Given the description of an element on the screen output the (x, y) to click on. 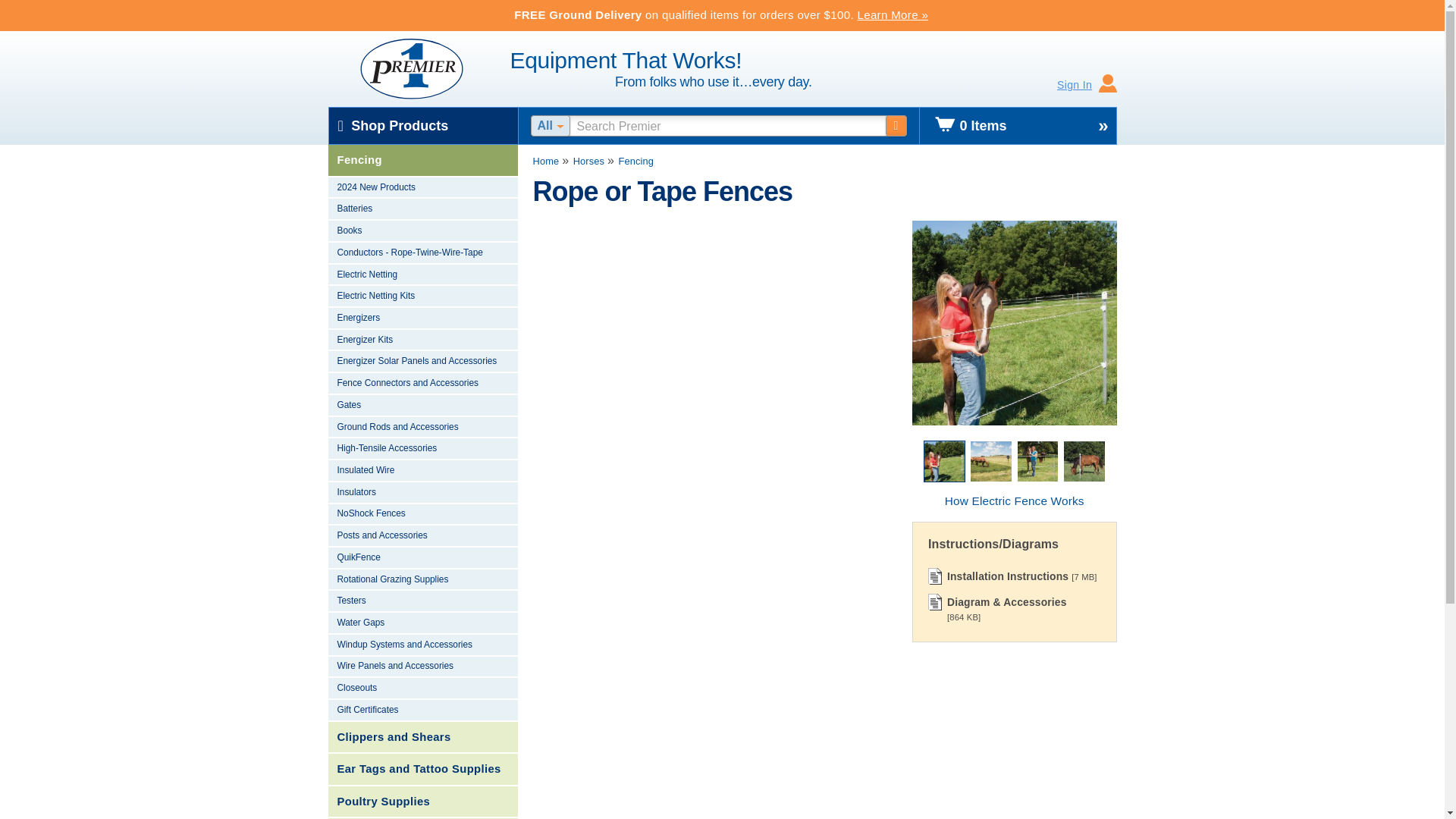
Insulated Wire (421, 471)
Shop Products (423, 125)
Conductors - Rope-Twine-Wire-Tape (421, 253)
Testers (421, 601)
Insulators (421, 493)
Books (421, 231)
2024 New Products (421, 188)
Poultry Supplies (421, 802)
Electric Netting (421, 275)
0 Items (1017, 125)
Gift Certificates (421, 710)
NoShock Fences (421, 515)
QuikFence (421, 558)
Windup Systems and Accessories (421, 645)
Energizer Kits (421, 341)
